Given the description of an element on the screen output the (x, y) to click on. 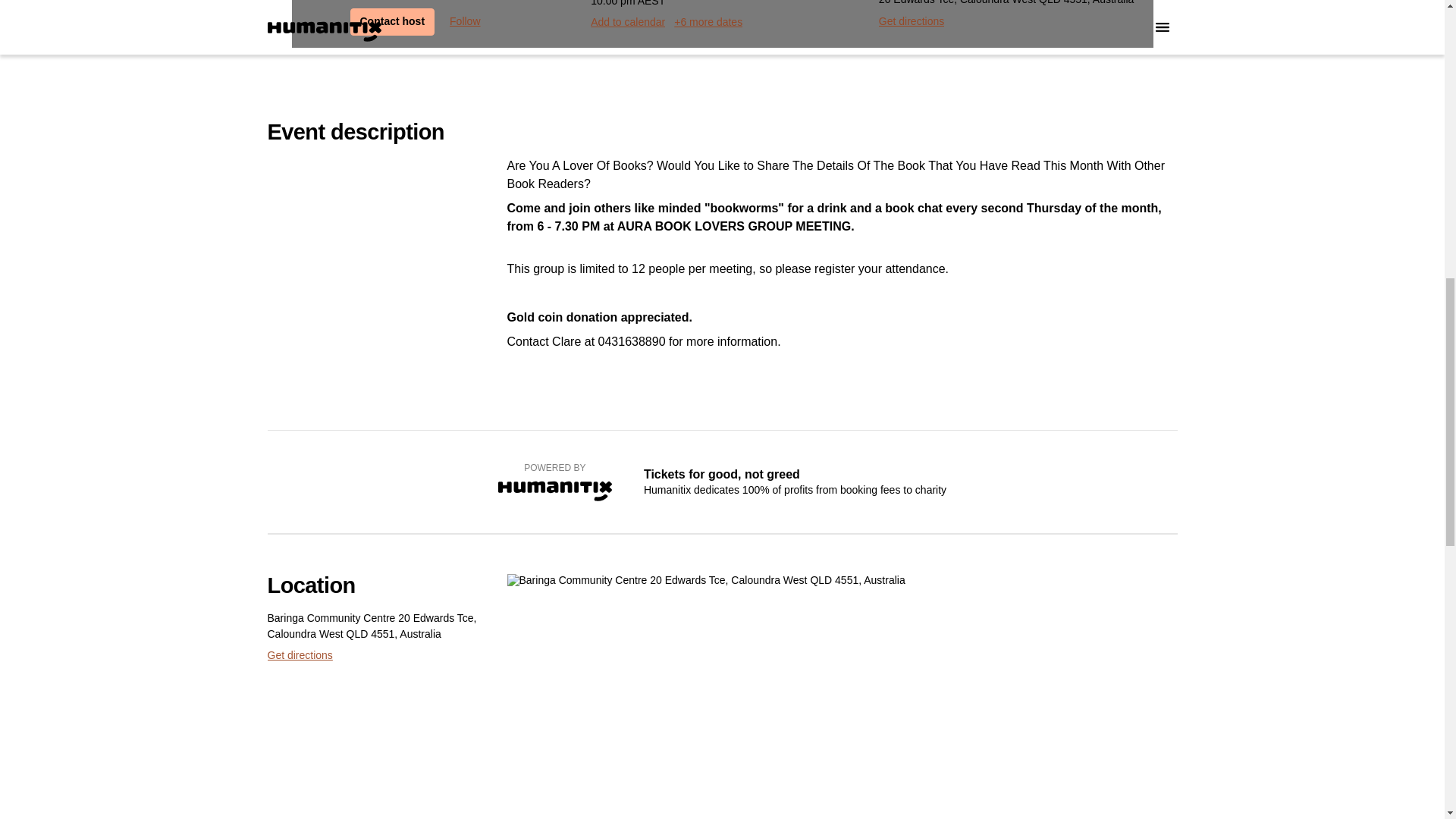
Get directions (911, 21)
Get directions (298, 655)
Add to calendar (628, 22)
Follow (465, 22)
